Given the description of an element on the screen output the (x, y) to click on. 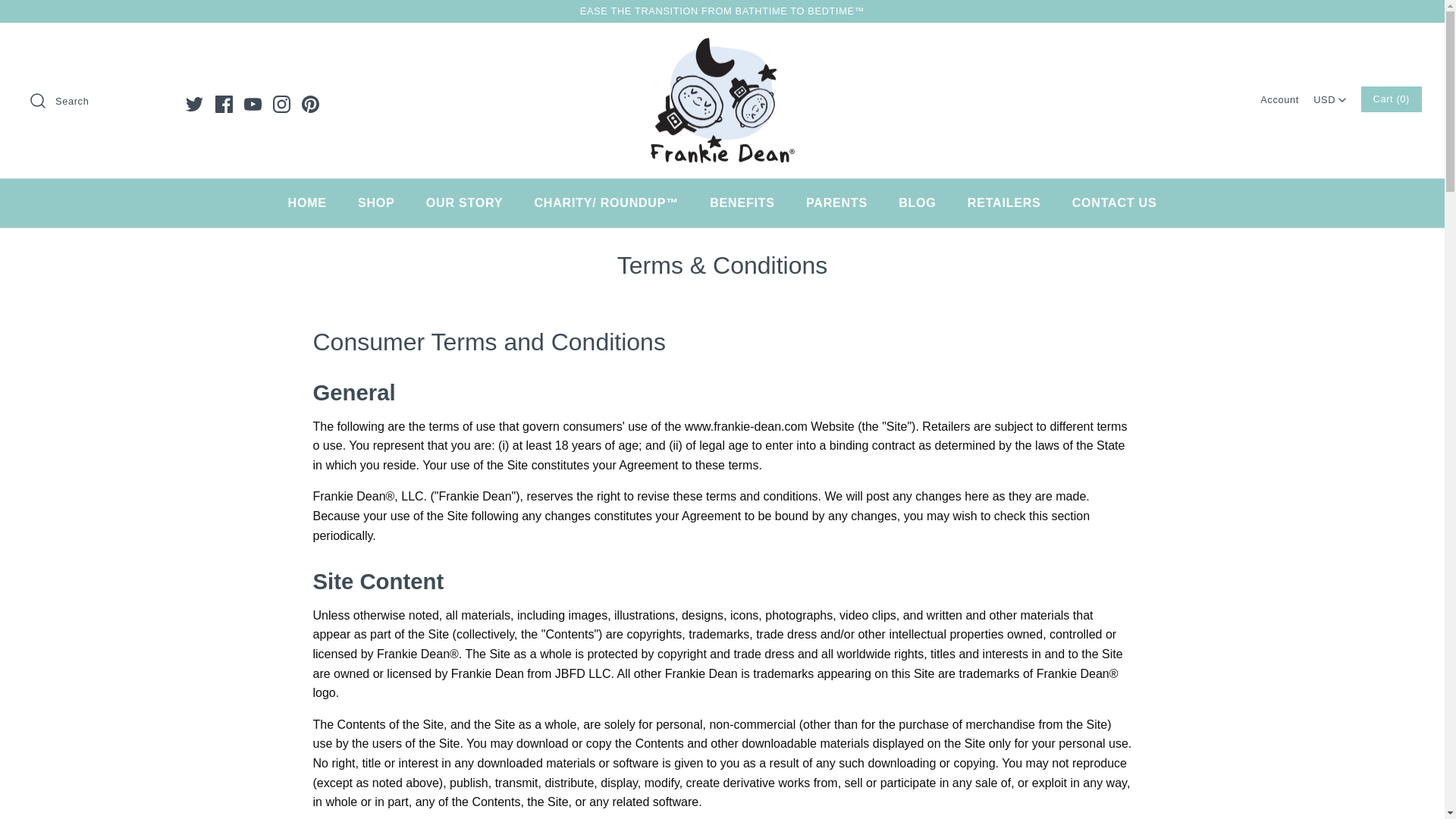
CONTACT US (1114, 203)
Youtube (253, 104)
SHOP (376, 203)
Instagram (281, 104)
Instagram (281, 104)
Twitter (194, 104)
PARENTS (836, 203)
Twitter (194, 104)
Pinterest (309, 104)
OUR STORY (464, 203)
Youtube (253, 104)
Down (1342, 100)
HOME (307, 203)
Youtube (253, 104)
Twitter (194, 104)
